Given the description of an element on the screen output the (x, y) to click on. 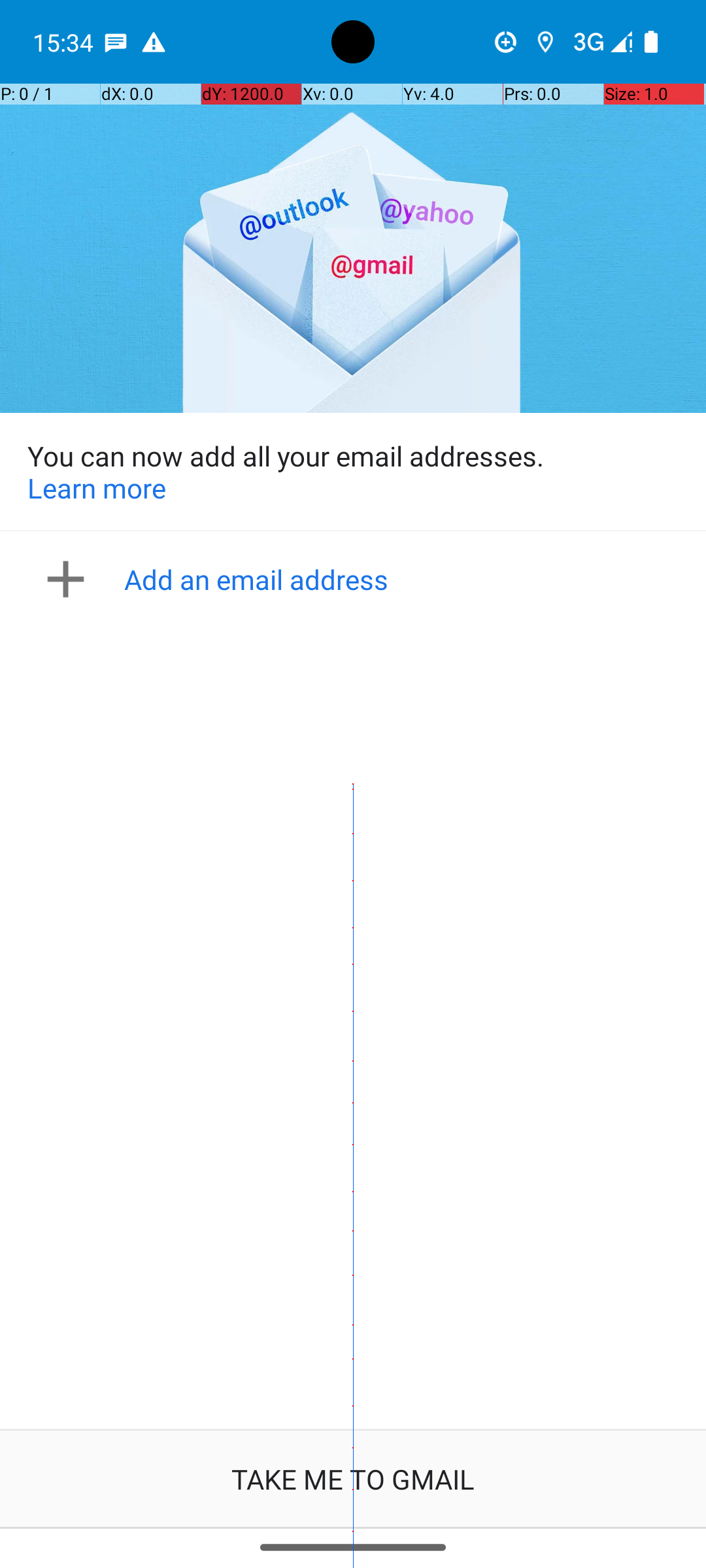
You can now add all your email addresses. Learn more Element type: android.widget.TextView (352, 471)
TAKE ME TO GMAIL Element type: android.widget.TextView (353, 1478)
Add an email address Element type: android.widget.TextView (356, 579)
Data Saver is on Element type: android.widget.ImageView (505, 41)
